Given the description of an element on the screen output the (x, y) to click on. 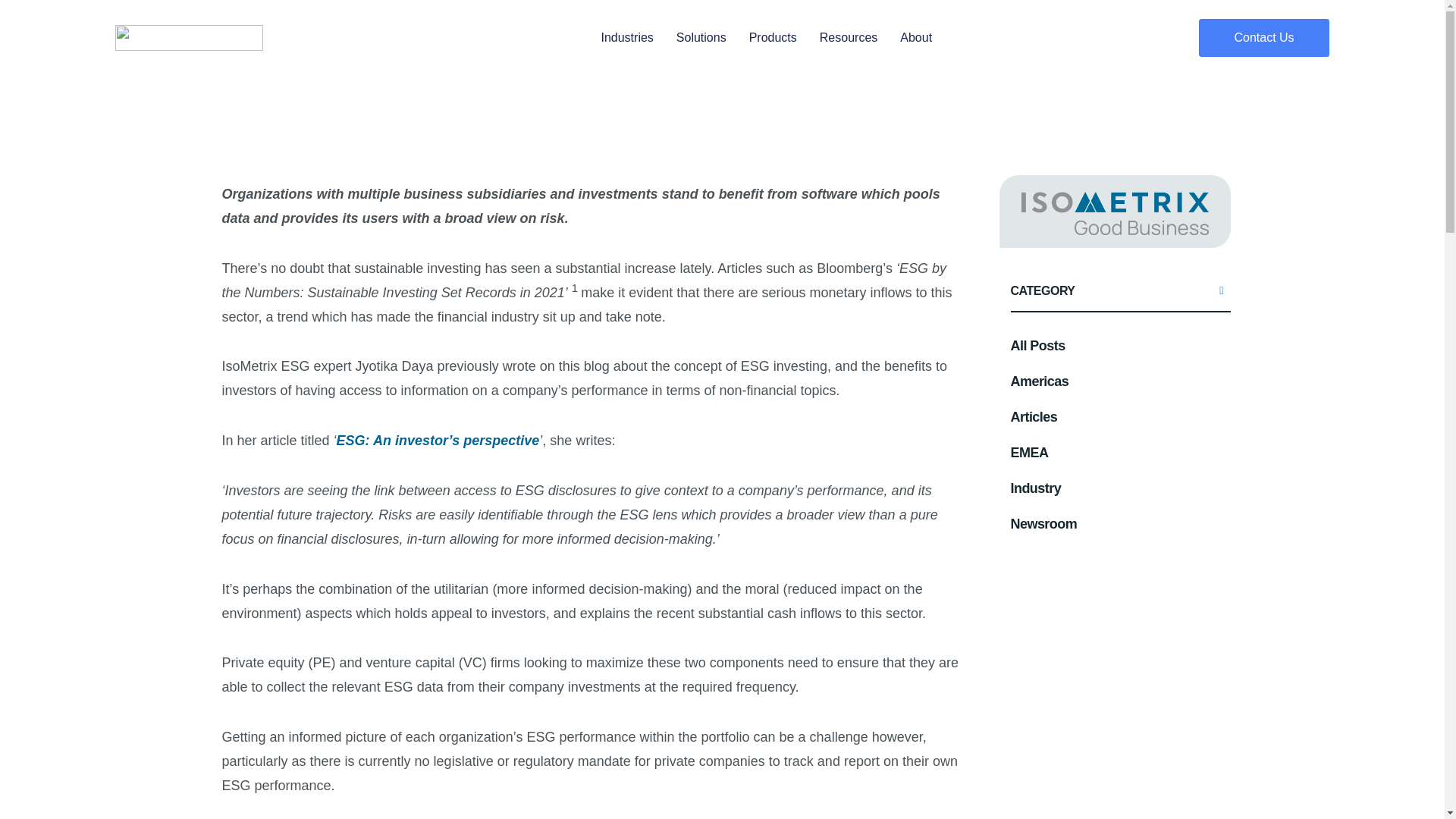
Products (772, 37)
About (915, 37)
Industries (625, 37)
Resources (848, 37)
Solutions (701, 37)
